Given the description of an element on the screen output the (x, y) to click on. 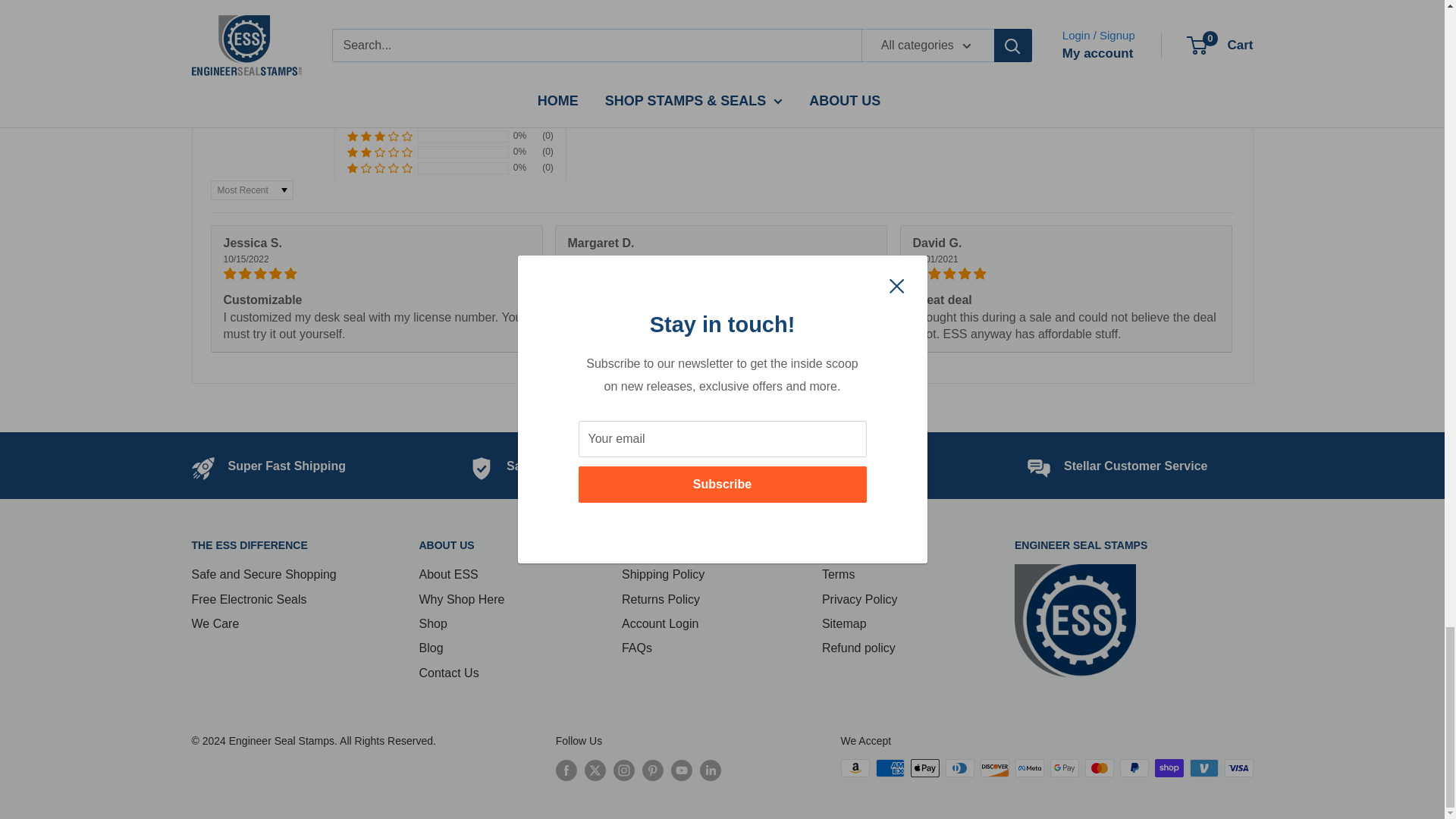
Super-Fast Shipping (286, 465)
Free Electronic Seals (847, 465)
Contact Us (1135, 465)
Safe and Secure Shopping (583, 465)
